Given the description of an element on the screen output the (x, y) to click on. 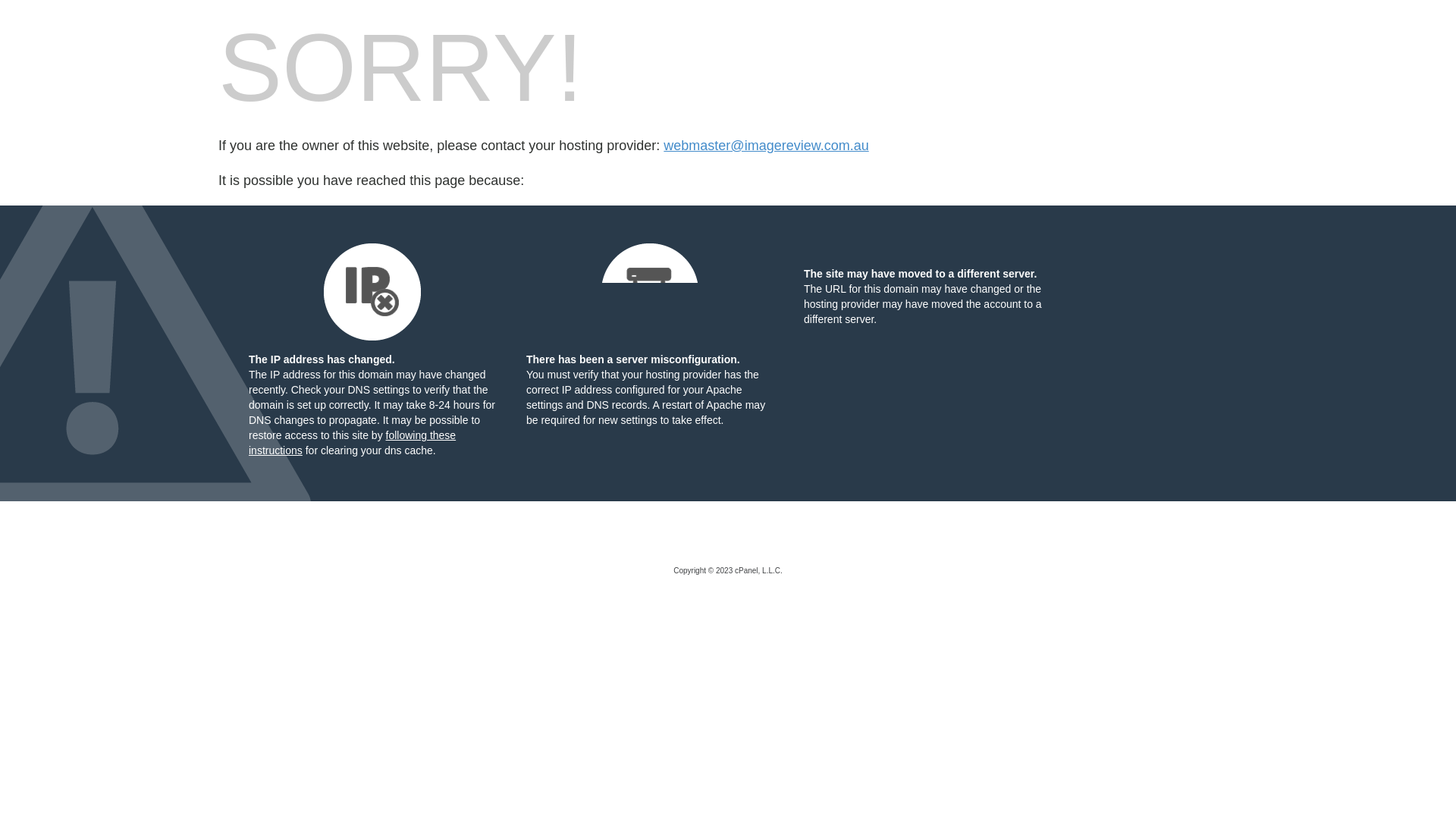
webmaster@imagereview.com.au Element type: text (765, 145)
following these instructions Element type: text (351, 442)
